Given the description of an element on the screen output the (x, y) to click on. 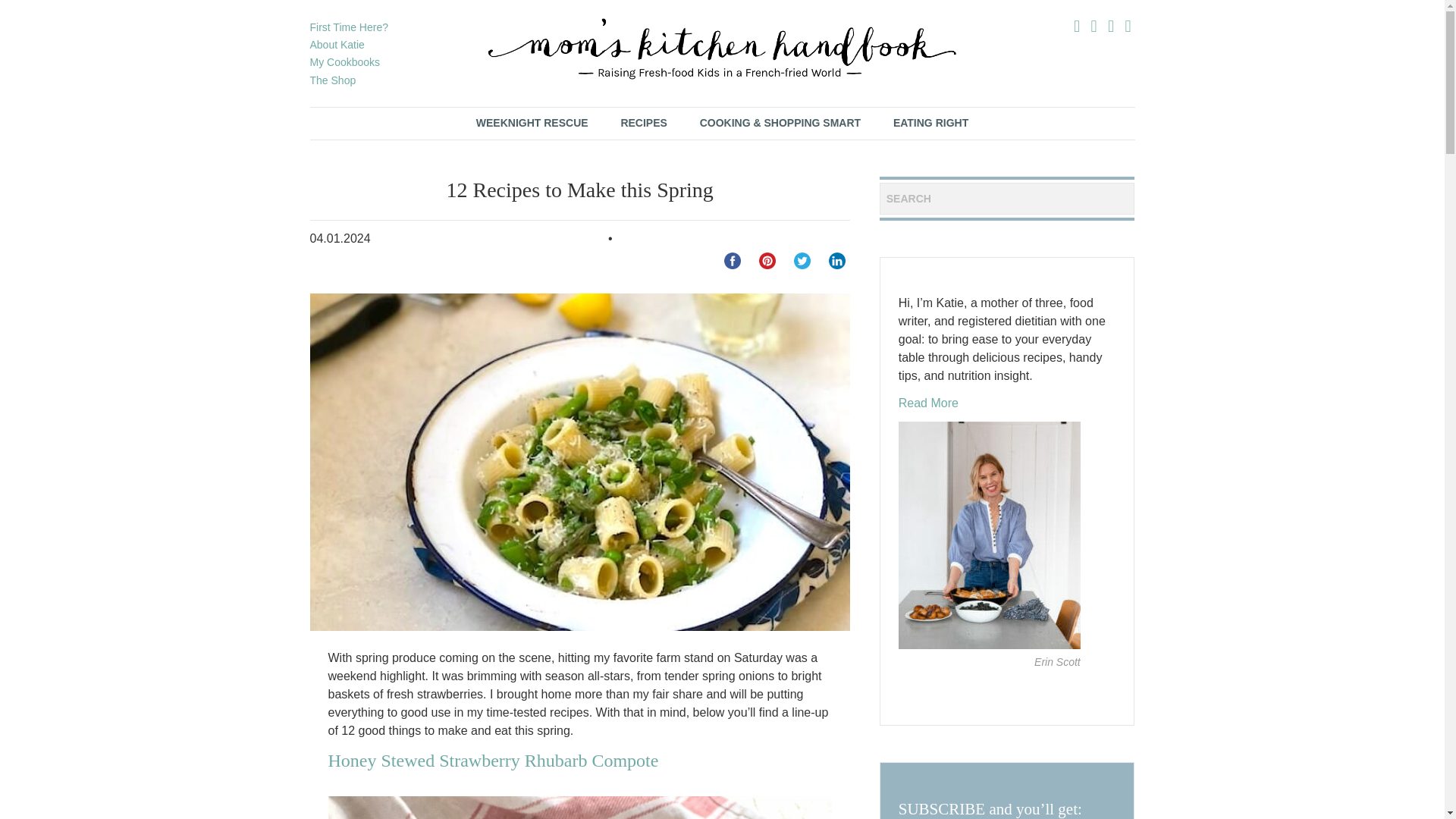
Raising Fresh-Food Kids in a French-Fried World (721, 48)
linkedin (837, 260)
WEEKNIGHT RESCUE (532, 123)
Read More (928, 402)
pinterest (767, 260)
facebook (732, 260)
RECIPES (643, 123)
My Cookbooks (344, 61)
The Shop (331, 80)
Honey Stewed Strawberry Rhubarb Compote (492, 760)
